Given the description of an element on the screen output the (x, y) to click on. 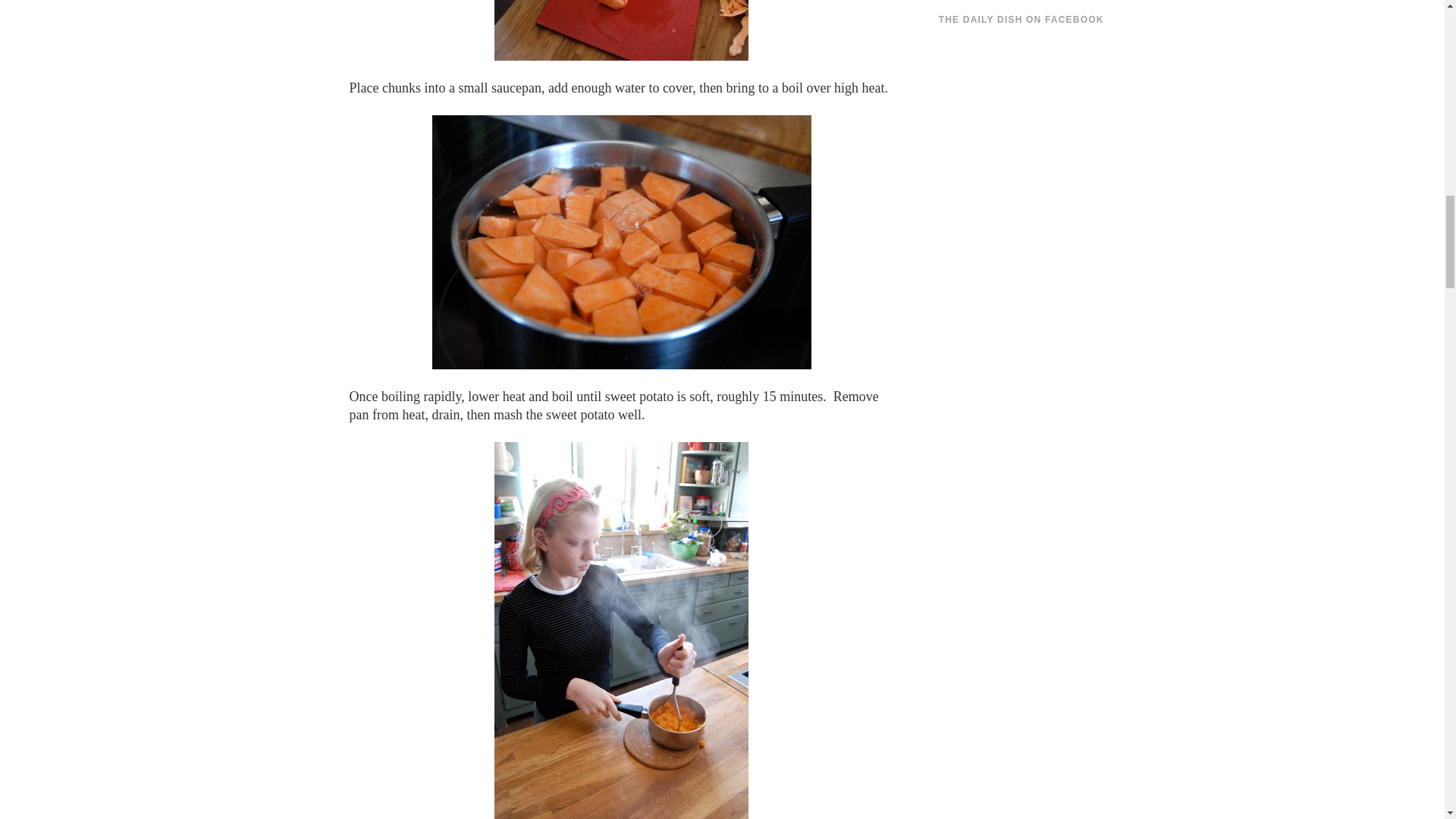
cooking sweet potato (621, 242)
cutting sweet potato (621, 30)
